Given the description of an element on the screen output the (x, y) to click on. 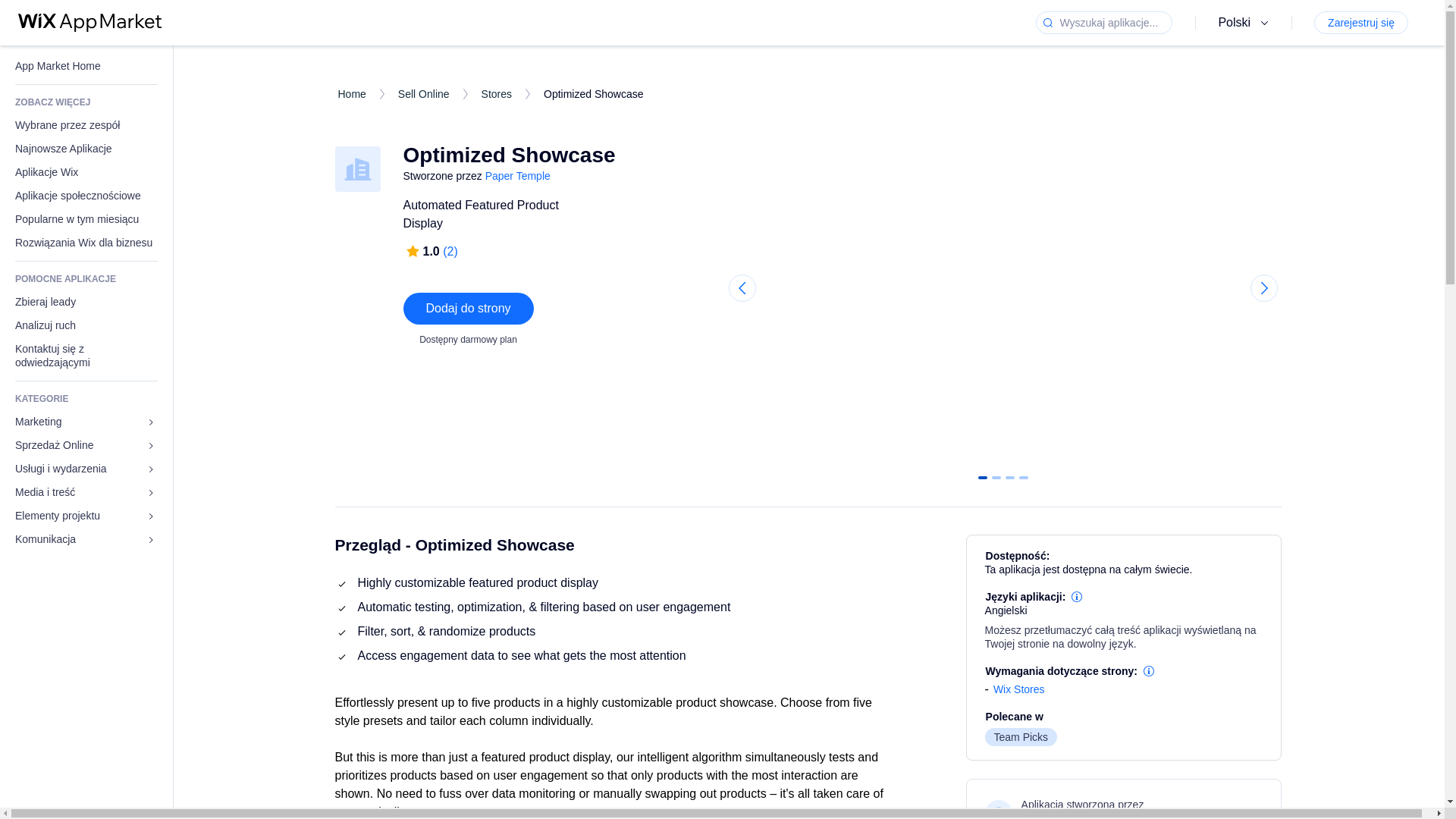
Aplikacje Wix (86, 172)
Najnowsze Aplikacje (86, 148)
App Market Home (86, 65)
Analizuj ruch (86, 325)
Marketing (86, 422)
Zbieraj leady (86, 301)
Polski (1244, 22)
